Given the description of an element on the screen output the (x, y) to click on. 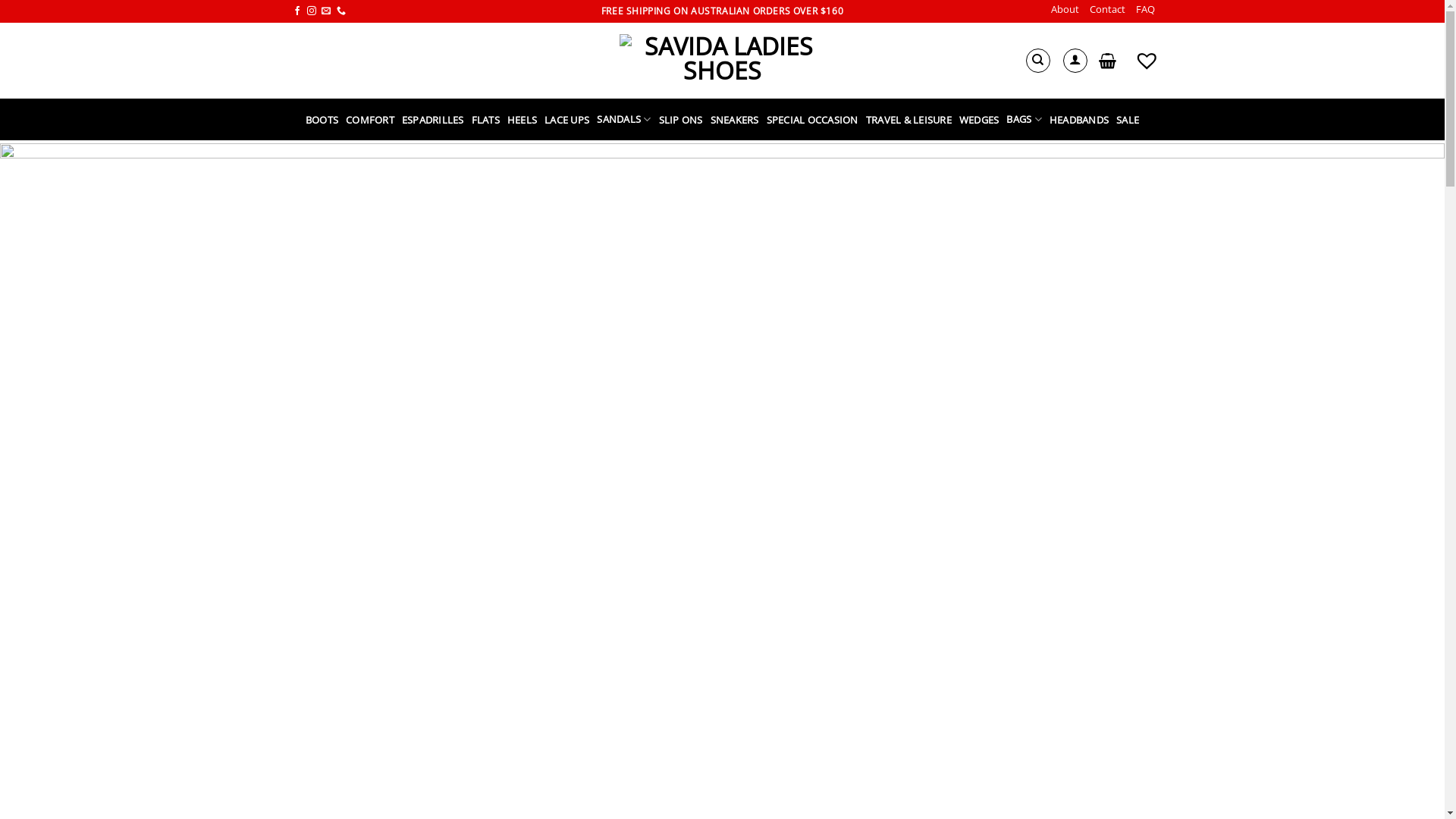
SLIP ONS Element type: text (680, 119)
Contact Element type: text (1106, 8)
SPECIAL OCCASION Element type: text (812, 119)
Savida Ladies Shoes - Ladies Shoes, Hats and Accessories Element type: hover (722, 60)
FAQ Element type: text (1144, 8)
Call us Element type: hover (340, 11)
HEELS Element type: text (521, 119)
SNEAKERS Element type: text (734, 119)
ESPADRILLES Element type: text (432, 119)
HEADBANDS Element type: text (1078, 119)
Cart Element type: hover (1107, 60)
BOOTS Element type: text (321, 119)
Follow on Facebook Element type: hover (296, 11)
SALE Element type: text (1127, 119)
BAGS Element type: text (1023, 119)
TRAVEL & LEISURE Element type: text (908, 119)
COMFORT Element type: text (369, 119)
FLATS Element type: text (485, 119)
SANDALS Element type: text (623, 119)
Follow on Instagram Element type: hover (311, 11)
WEDGES Element type: text (979, 119)
About Element type: text (1065, 8)
Send us an email Element type: hover (325, 11)
LACE UPS Element type: text (566, 119)
